Given the description of an element on the screen output the (x, y) to click on. 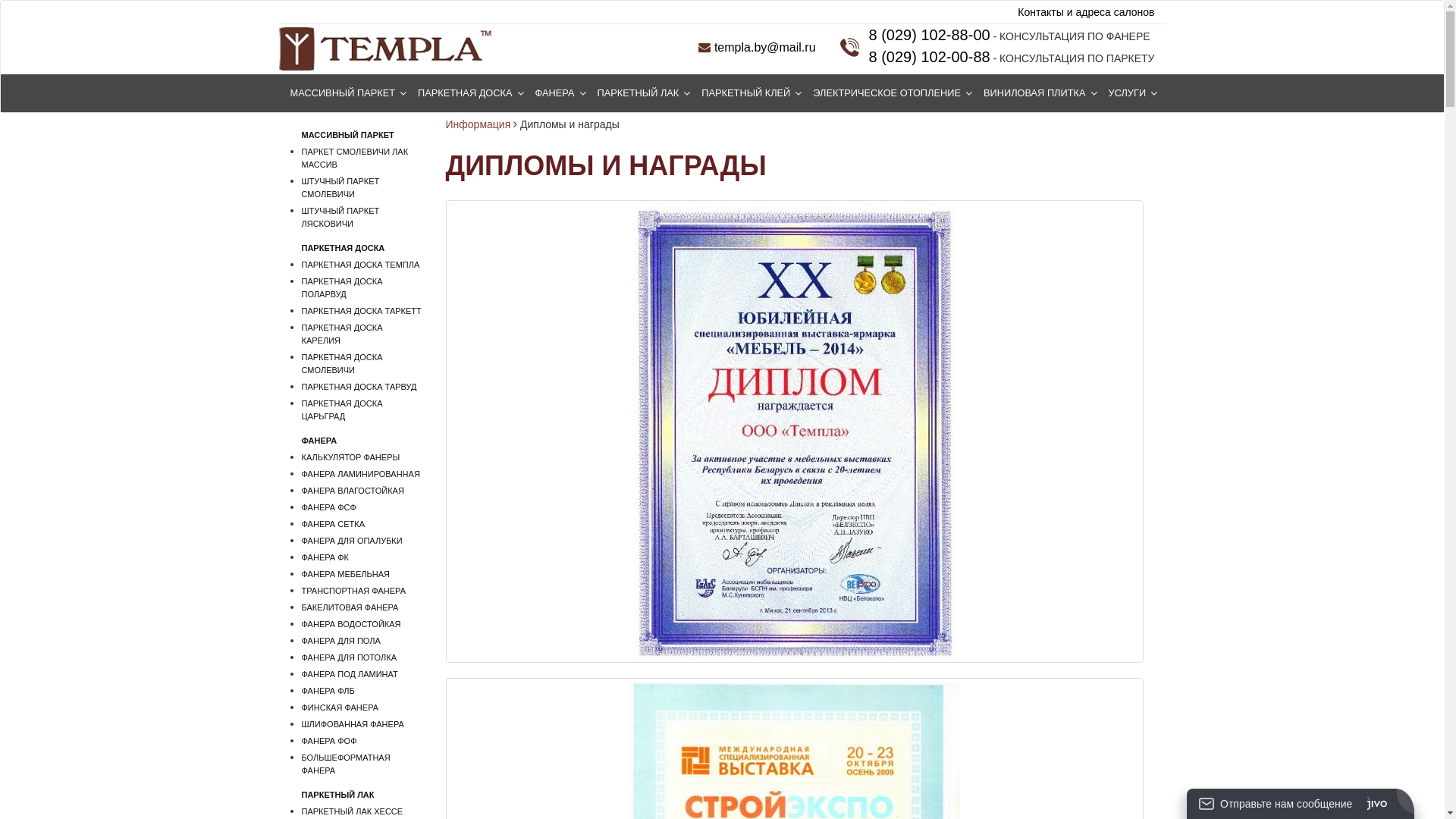
8 (029) 102-88-00 Element type: text (929, 34)
templa.by@mail.ru Element type: text (756, 46)
8 (029) 102-00-88 Element type: text (929, 56)
